Given the description of an element on the screen output the (x, y) to click on. 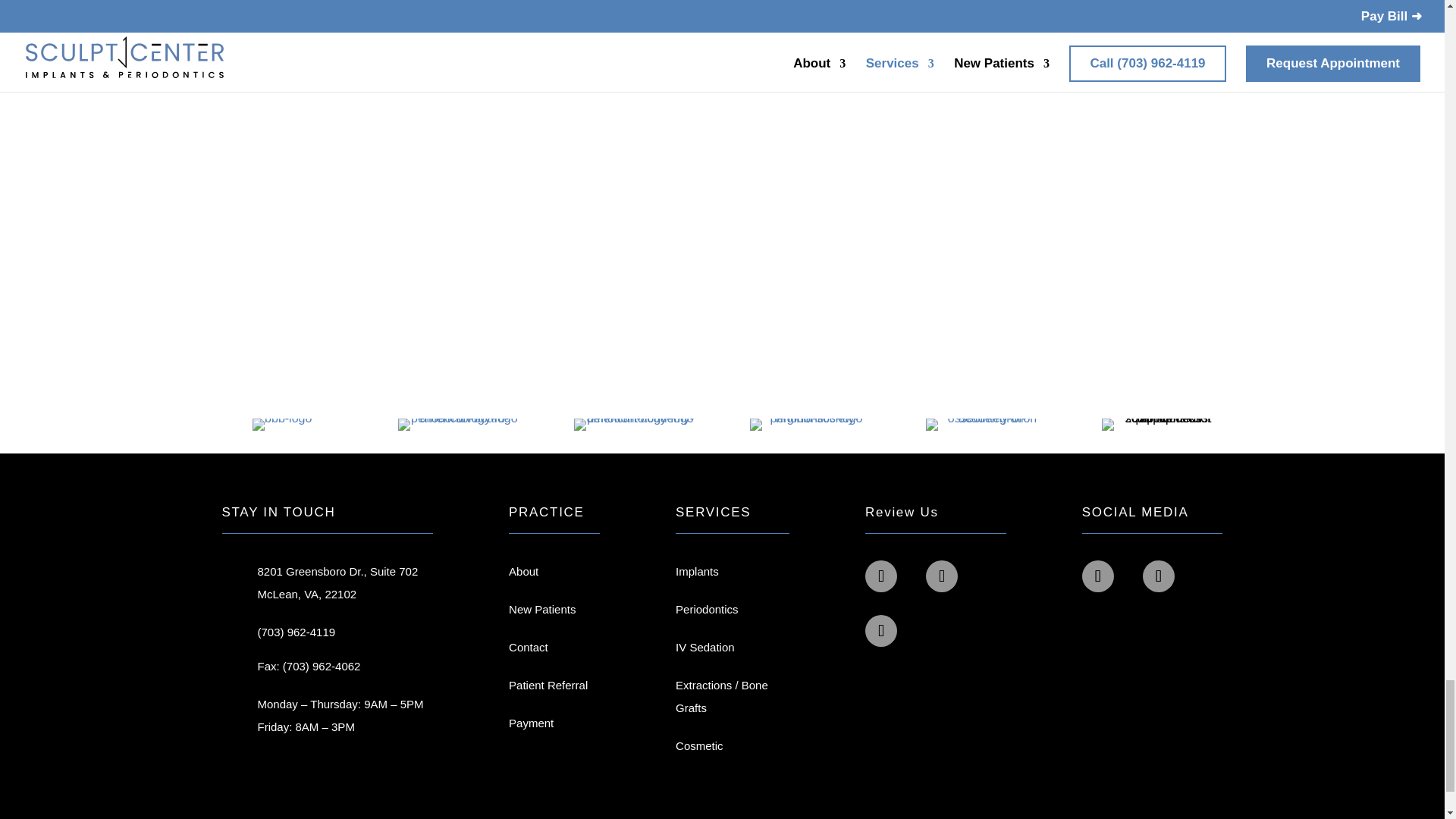
virginia-society-periodontics-logo (809, 424)
academy-of-osseointegration (986, 424)
Follow on Instagram (1097, 576)
bbb-logo (281, 424)
Follow on Yelp (942, 576)
american-board-periodontology-logo (457, 424)
Follow on Facebook (880, 631)
Follow on Google (880, 576)
2023 top dentist (1162, 424)
american-academy-periodontology-logo (633, 424)
Follow on Facebook (1158, 576)
